Given the description of an element on the screen output the (x, y) to click on. 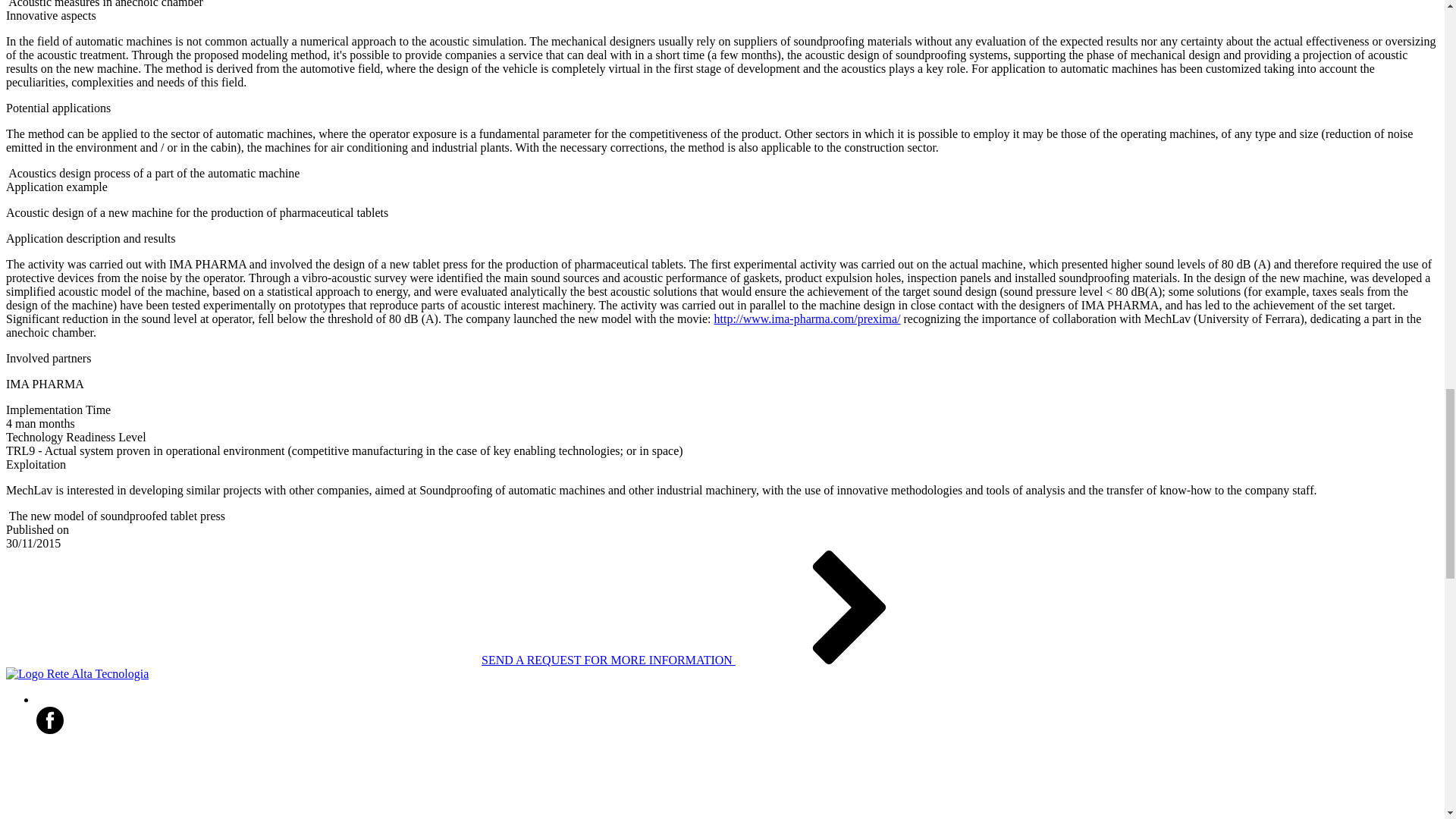
SEND A REQUEST FOR MORE INFORMATION (721, 659)
